Given the description of an element on the screen output the (x, y) to click on. 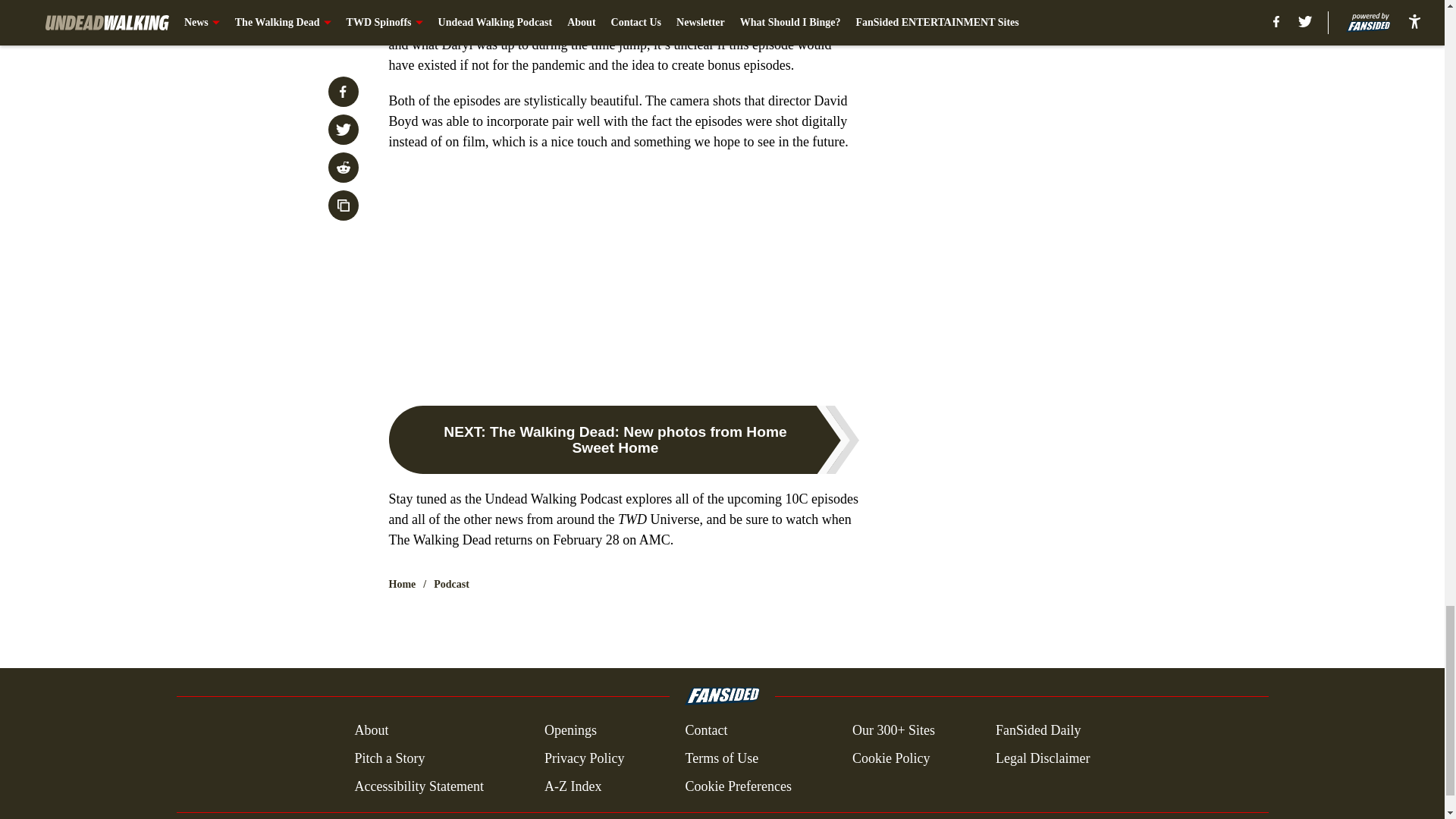
NEXT: The Walking Dead: New photos from Home Sweet Home (623, 439)
Podcast (450, 584)
Home (401, 584)
About (370, 730)
